Given the description of an element on the screen output the (x, y) to click on. 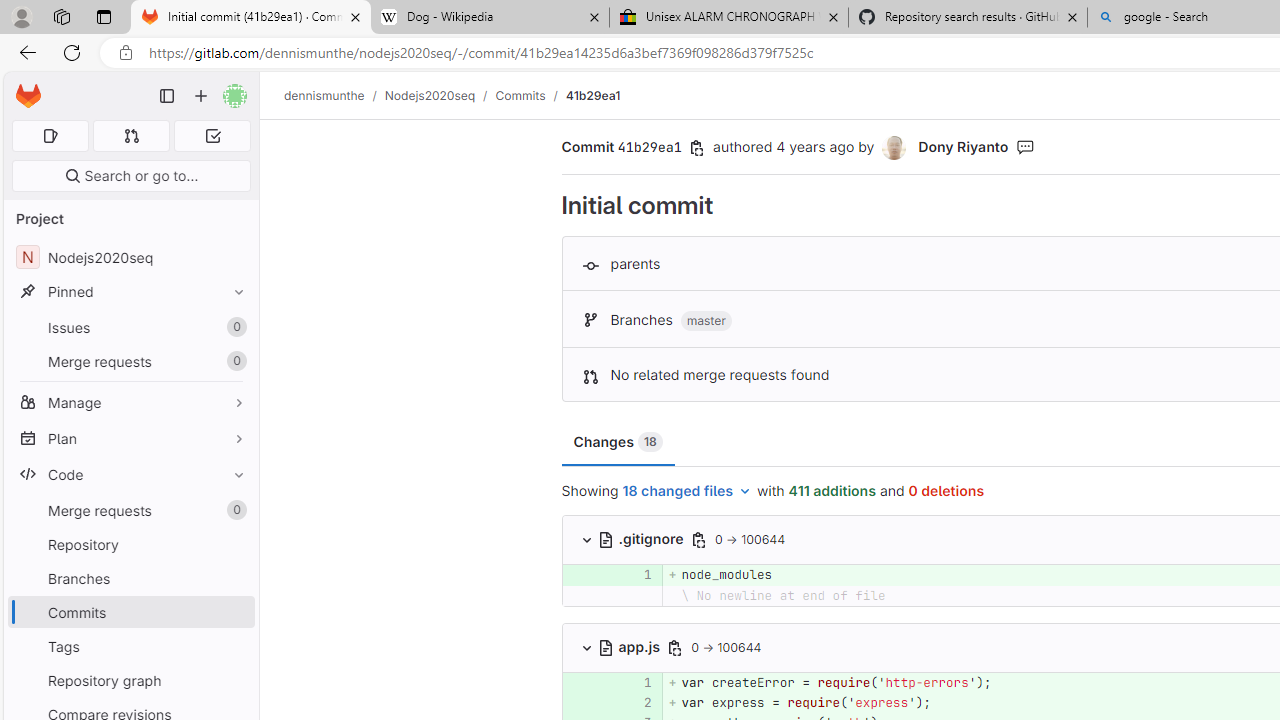
Add a comment to this line (562, 701)
Commits (520, 95)
Tags (130, 646)
Issues 0 (130, 327)
dennismunthe/ (334, 95)
Unpin Merge requests (234, 510)
Class: s12 (562, 700)
Unpin Issues (234, 327)
Changes 18 (617, 442)
2 (637, 701)
Nodejs2020seq/ (440, 95)
Homepage (27, 96)
Nodejs2020seq (430, 95)
